Given the description of an element on the screen output the (x, y) to click on. 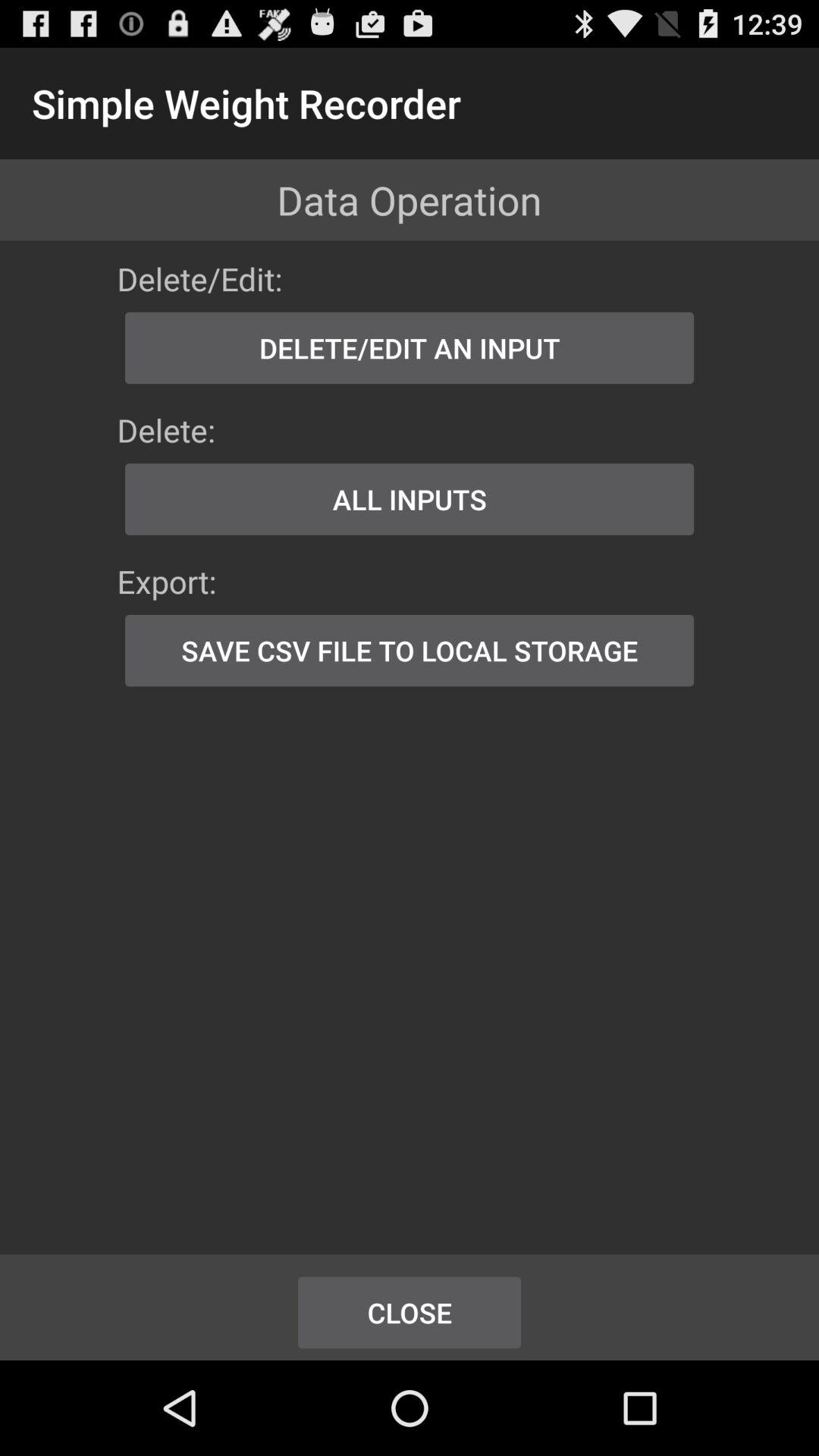
turn on the all inputs icon (409, 499)
